Given the description of an element on the screen output the (x, y) to click on. 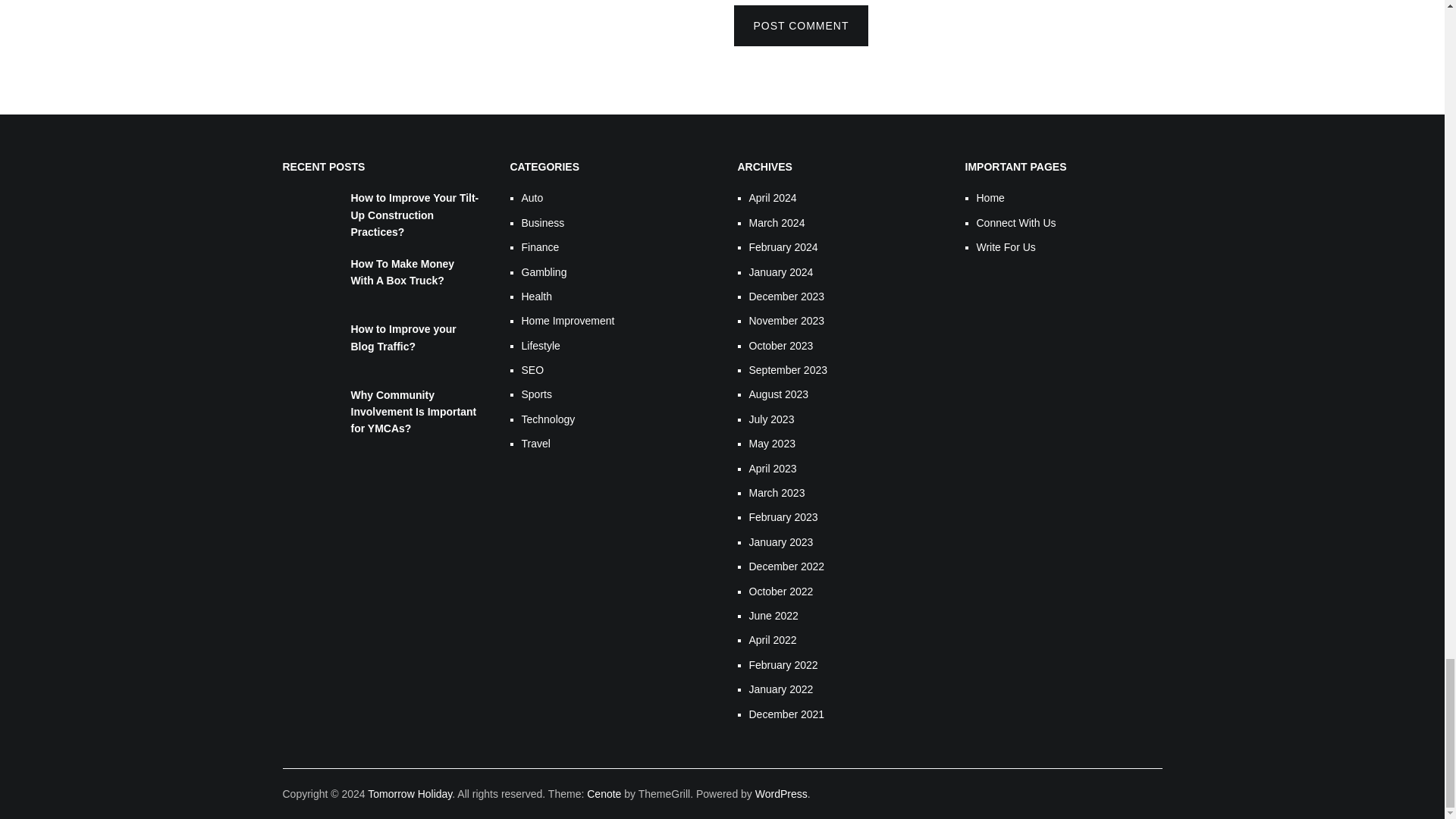
POST COMMENT (800, 24)
Tomorrow Holiday (409, 793)
